Given the description of an element on the screen output the (x, y) to click on. 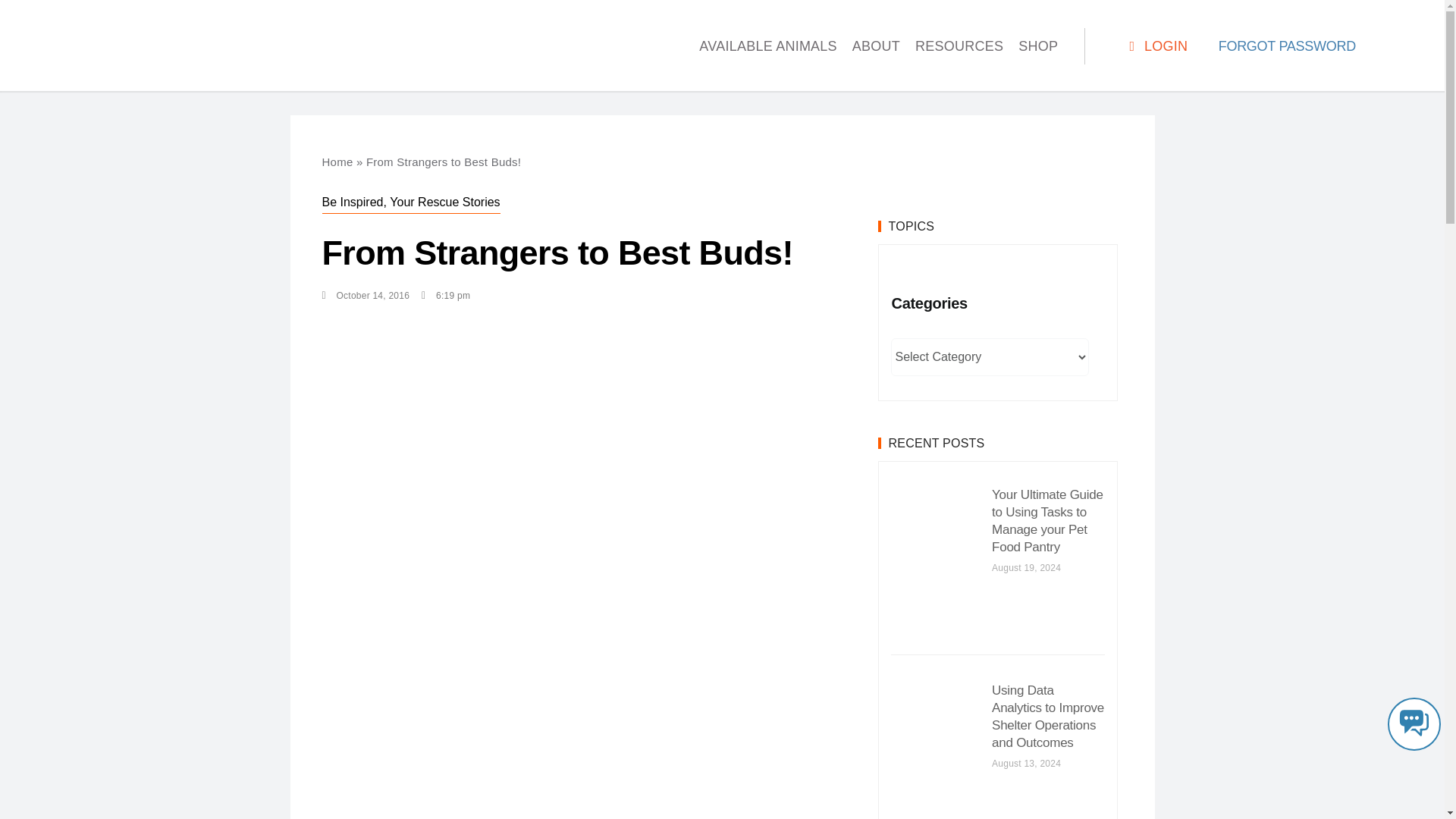
AVAILABLE ANIMALS (767, 45)
FORGOT PASSWORD (1286, 46)
SHOP (1037, 45)
RESOURCES (958, 45)
ABOUT (875, 45)
LOGIN (1156, 46)
